Given the description of an element on the screen output the (x, y) to click on. 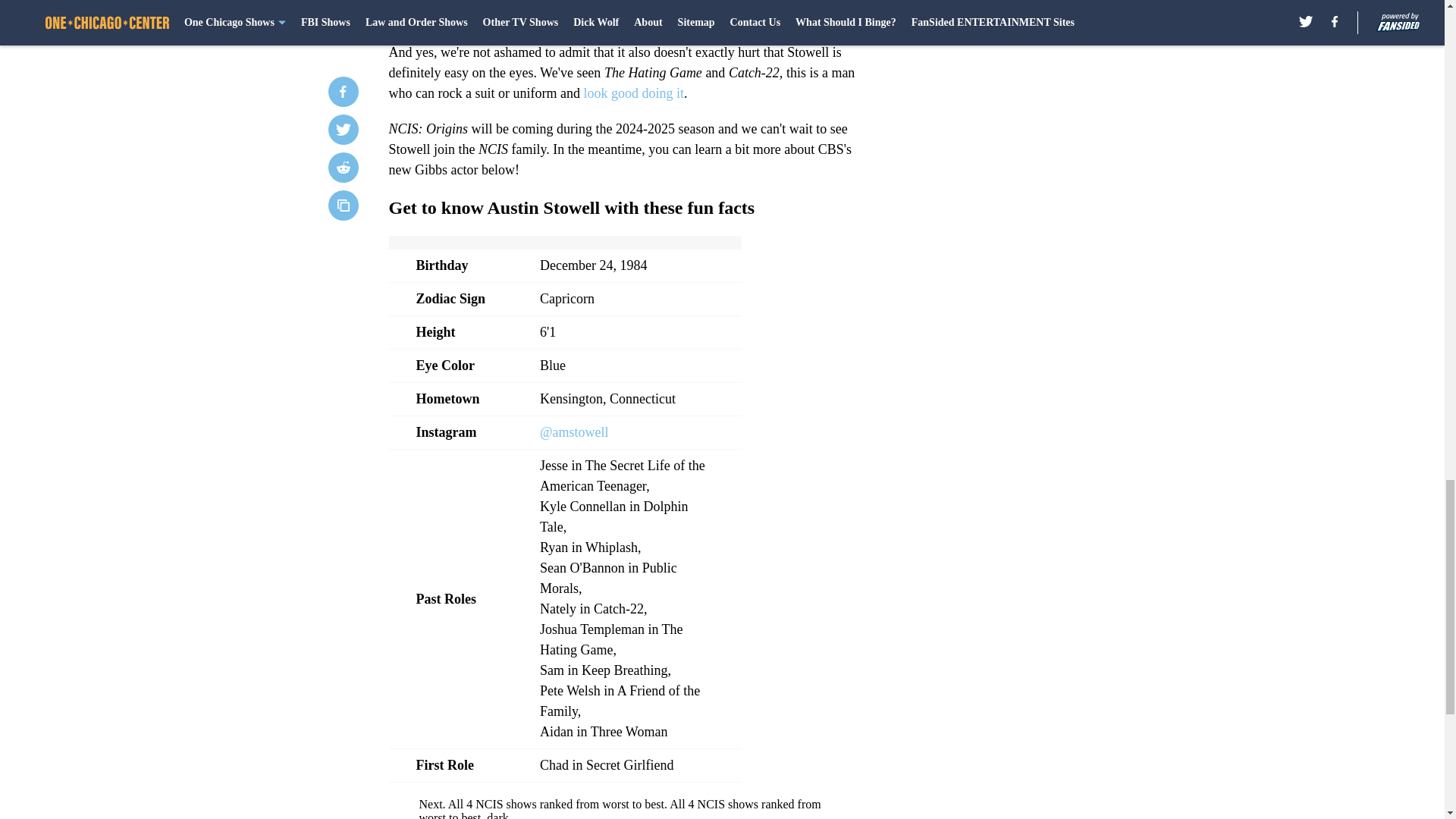
look good doing it (633, 92)
